Given the description of an element on the screen output the (x, y) to click on. 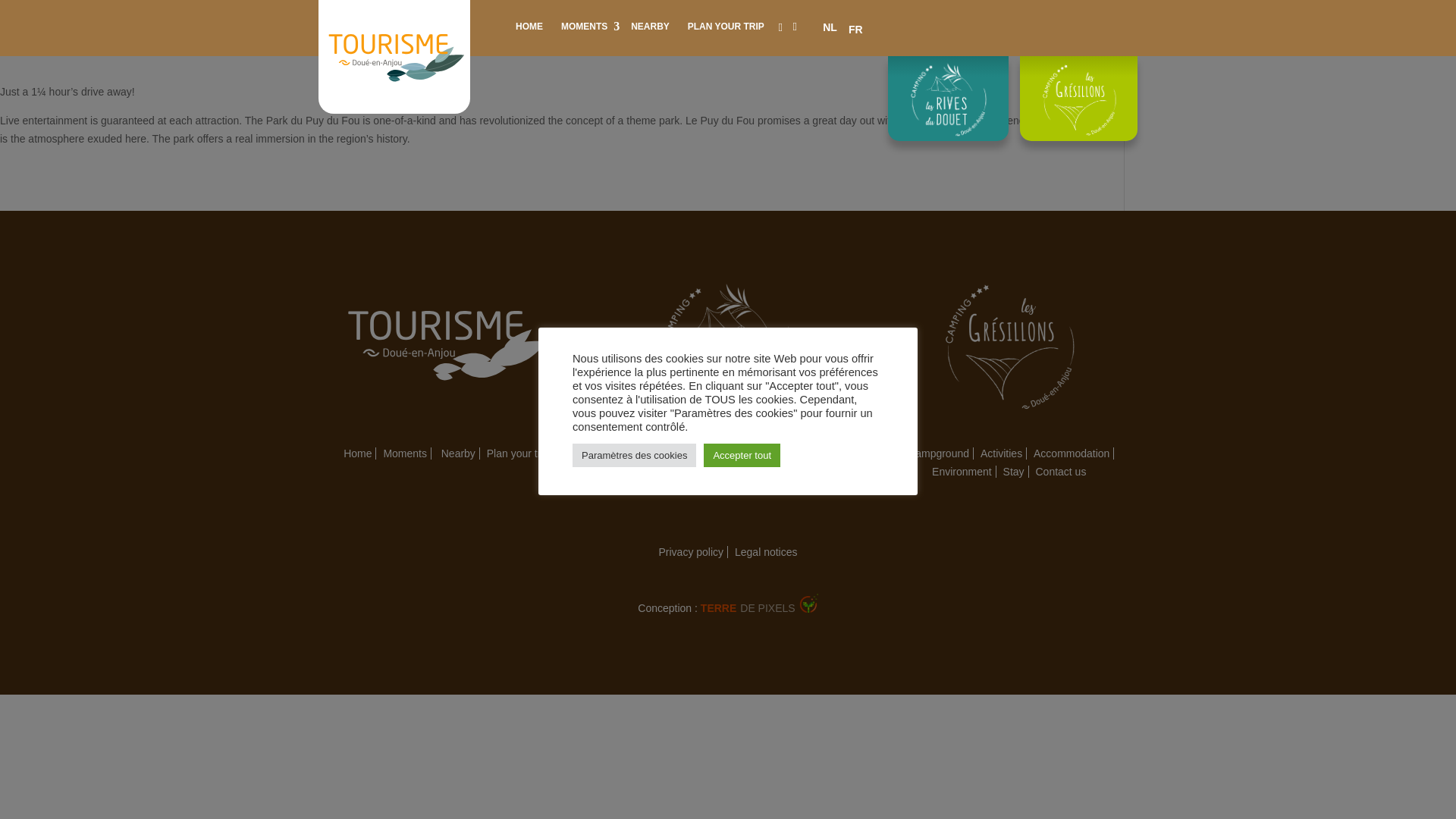
Nearby (459, 453)
Moments (404, 453)
Plan your trip (518, 453)
PLAN YOUR TRIP (725, 26)
NEARBY (650, 26)
Home (357, 453)
MOMENTS (586, 26)
LES RIVES DU DOUET (948, 82)
